Given the description of an element on the screen output the (x, y) to click on. 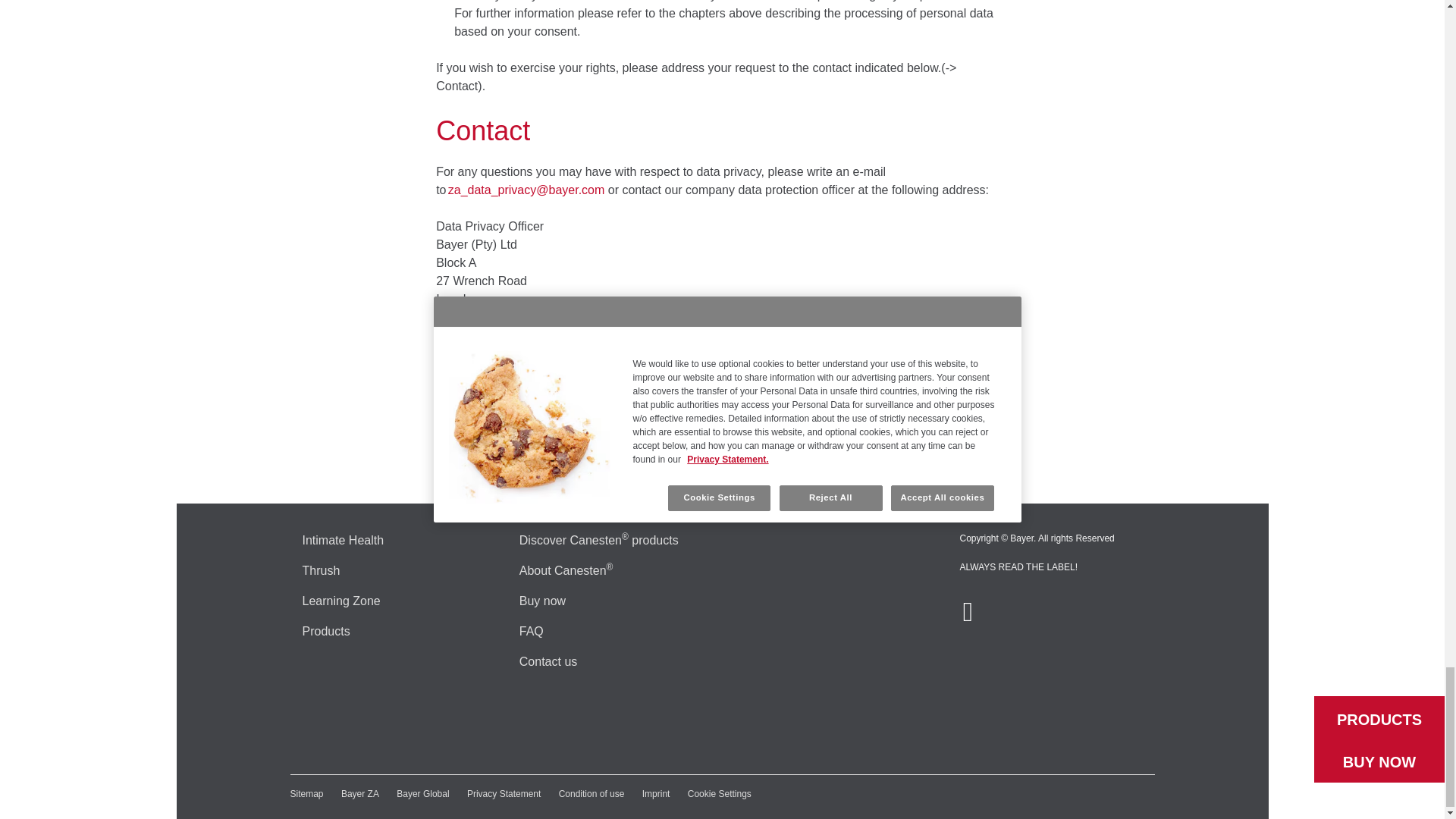
Facebook (967, 617)
